Given the description of an element on the screen output the (x, y) to click on. 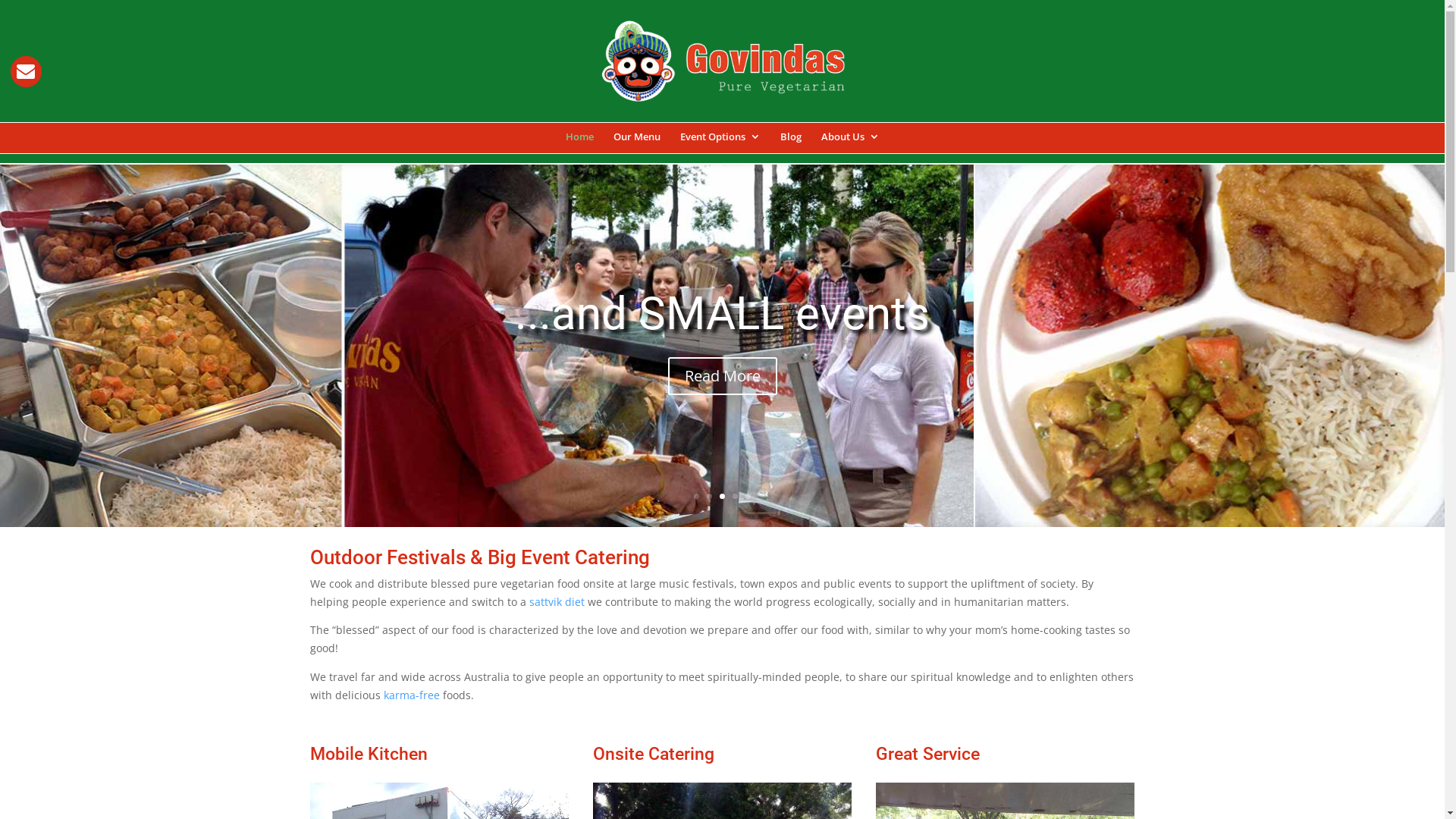
Home Element type: text (579, 147)
Event Options Element type: text (719, 147)
...and SMALL events Element type: text (721, 313)
sattvik diet Element type: text (556, 601)
Our Menu Element type: text (635, 147)
Read More Element type: text (721, 376)
karma-free Element type: text (411, 694)
5 Element type: text (747, 495)
Blog Element type: text (789, 147)
2 Element type: text (709, 495)
About Us Element type: text (849, 147)
4 Element type: text (734, 495)
3 Element type: text (721, 495)
1 Element type: text (696, 495)
